Given the description of an element on the screen output the (x, y) to click on. 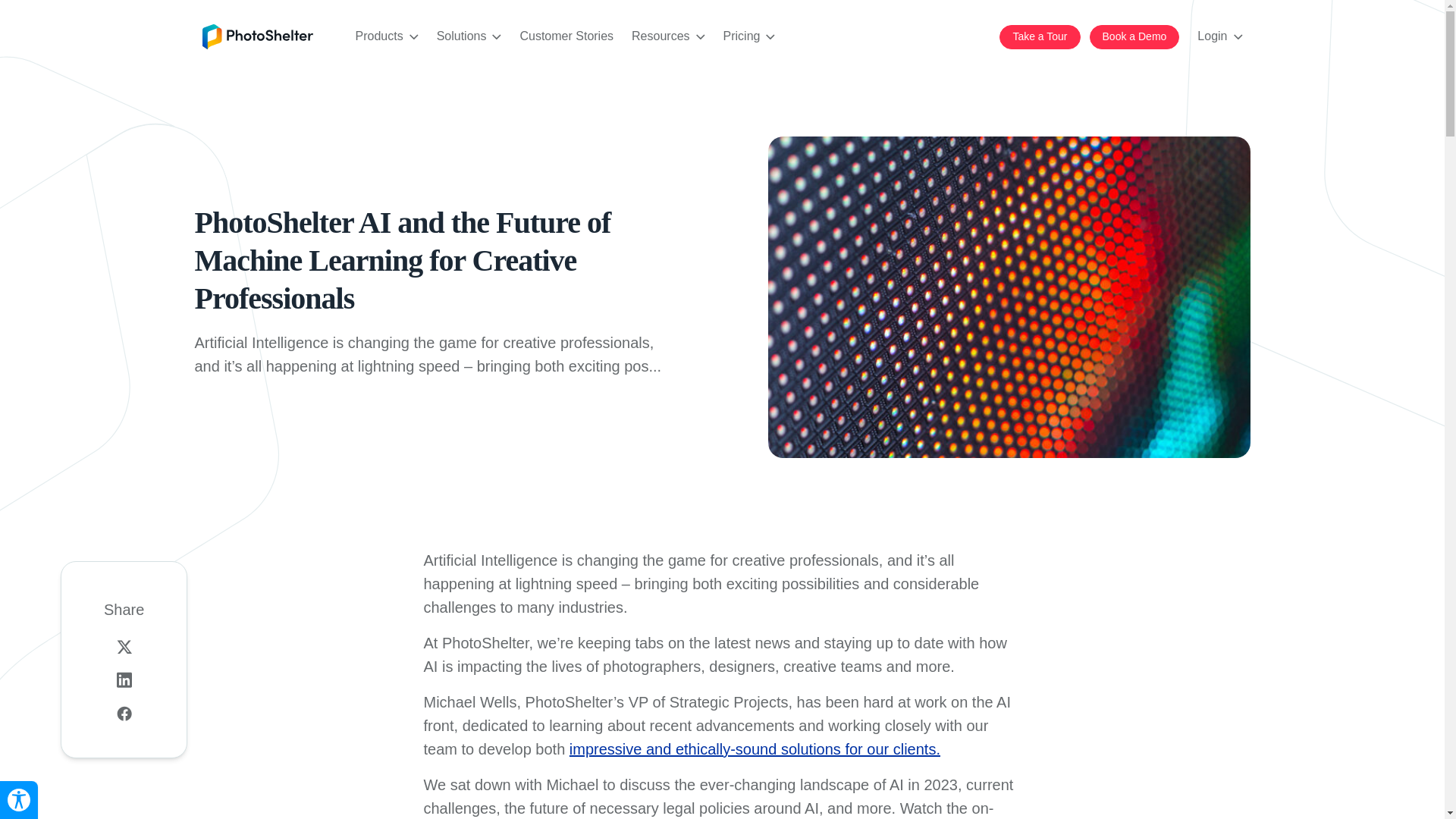
Customer Stories (565, 36)
Resources (667, 36)
Products (386, 36)
PhotoShelter logo (257, 36)
Solutions (469, 36)
